Given the description of an element on the screen output the (x, y) to click on. 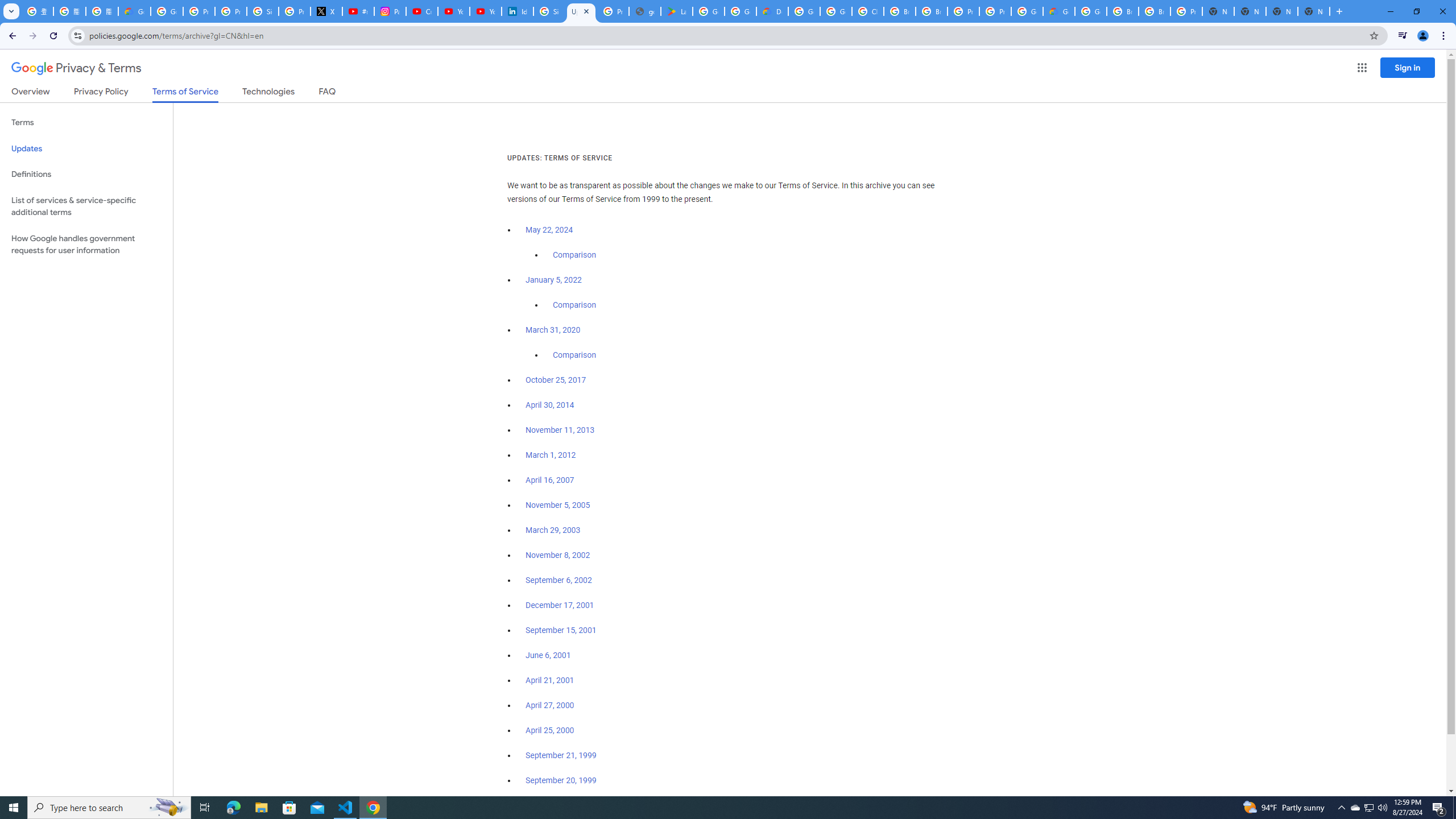
Google Cloud Platform (1091, 11)
April 16, 2007 (550, 480)
May 22, 2024 (549, 230)
Privacy Help Center - Policies Help (230, 11)
November 5, 2005 (557, 505)
